Given the description of an element on the screen output the (x, y) to click on. 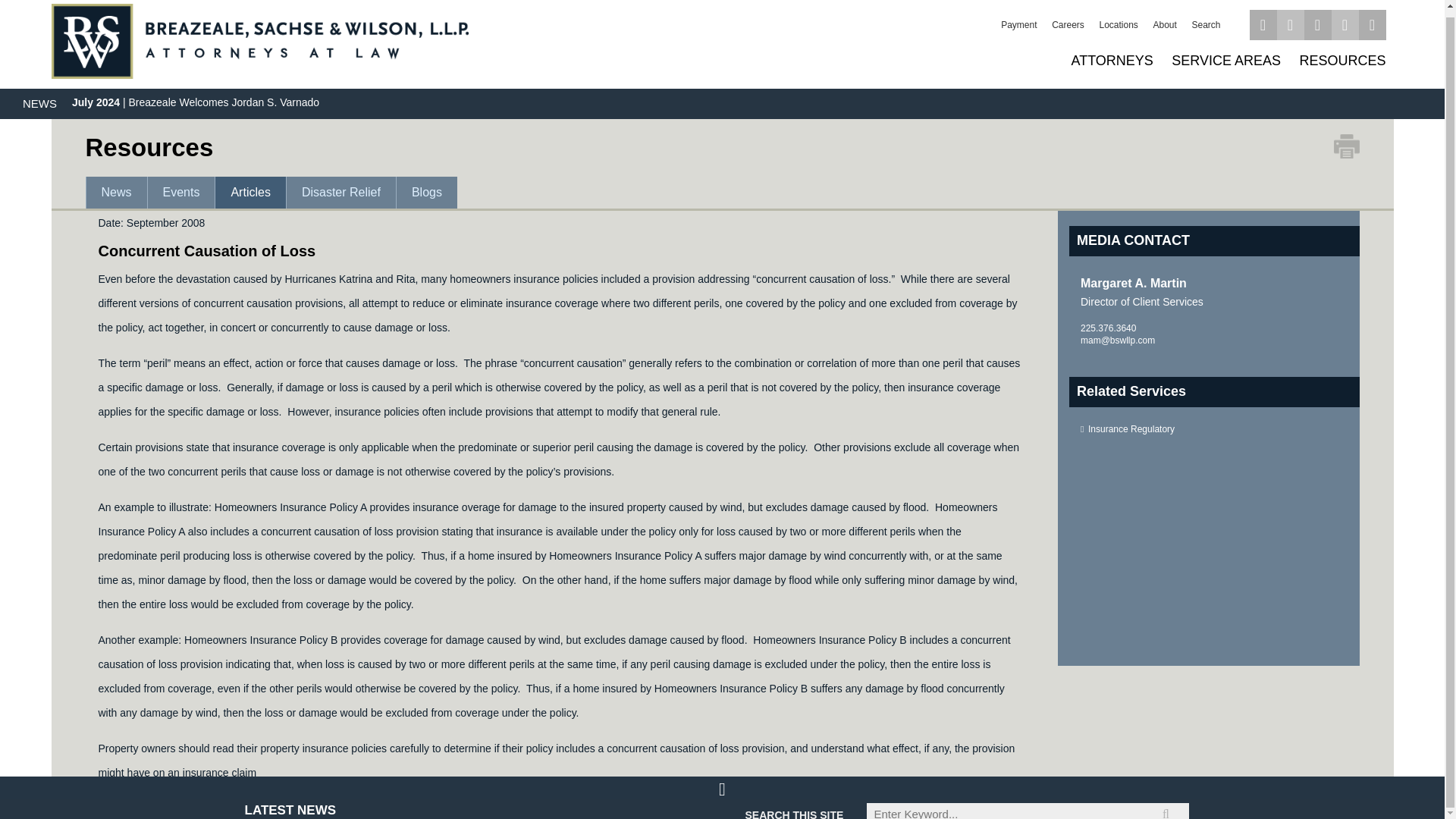
SERVICE AREAS (1225, 60)
Search (1205, 24)
Contact Us (1372, 24)
Locations (1117, 24)
Payment (1018, 24)
Careers (1067, 24)
About (1164, 24)
ATTORNEYS (1111, 60)
